Given the description of an element on the screen output the (x, y) to click on. 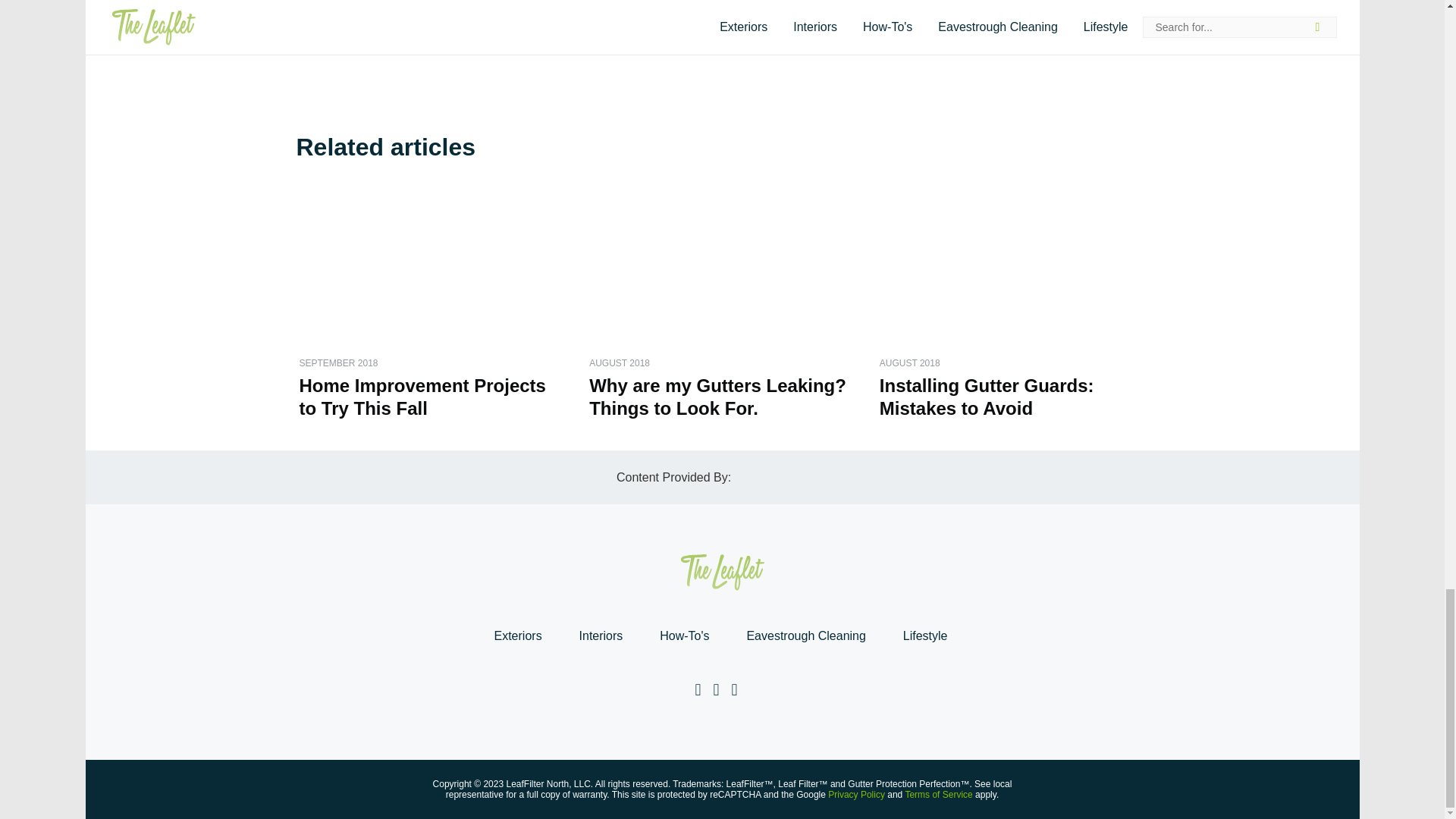
Eavestrough Cleaning (805, 635)
Exteriors (517, 635)
Exteriors (517, 635)
Lifestyle (925, 635)
Terms of Service (938, 794)
Interiors (600, 635)
Lifestyle (925, 635)
Privacy Policy (856, 794)
How-To's (683, 635)
See how LeafFilter (684, 21)
